Given the description of an element on the screen output the (x, y) to click on. 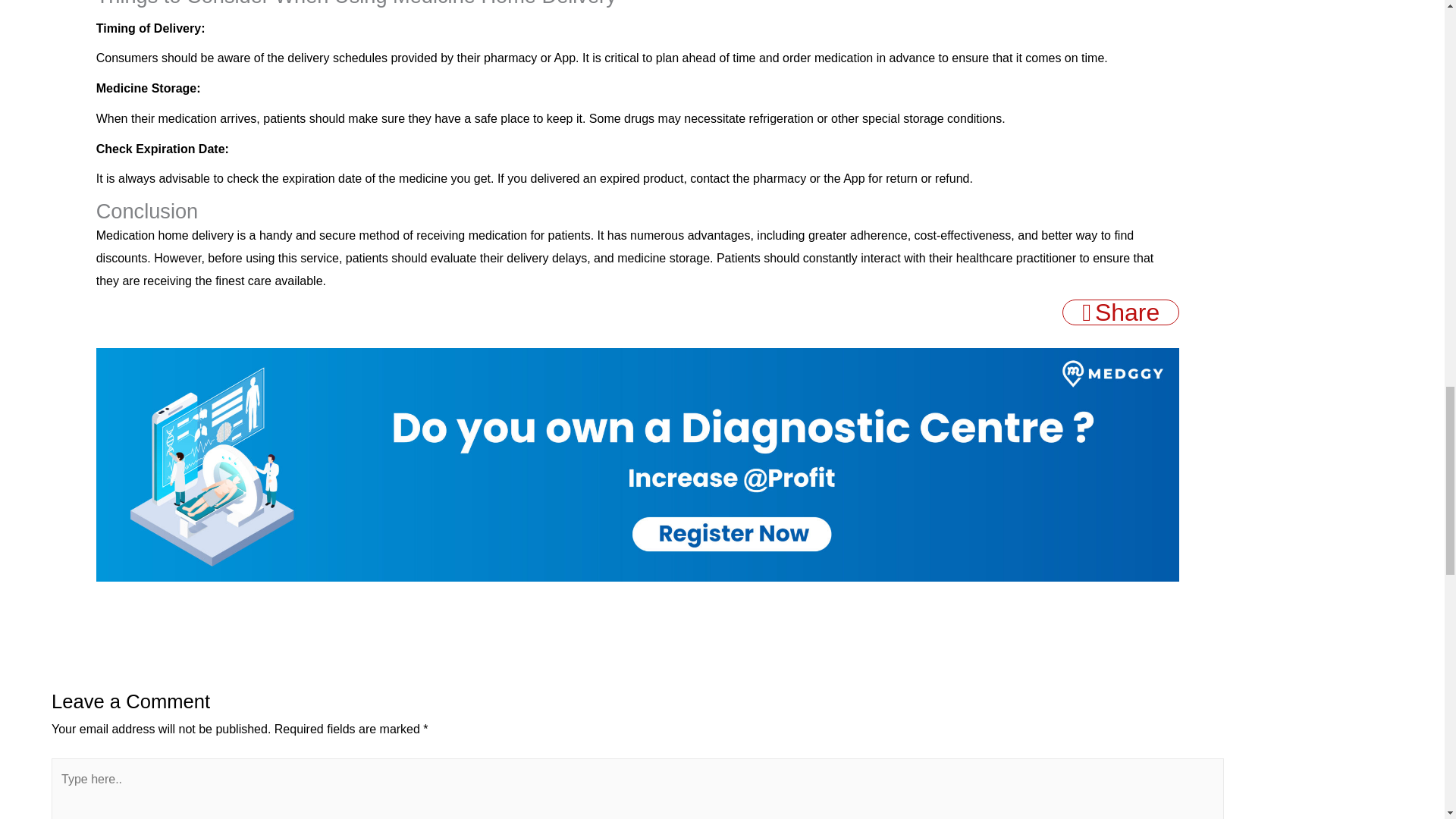
Share (1120, 312)
